Given the description of an element on the screen output the (x, y) to click on. 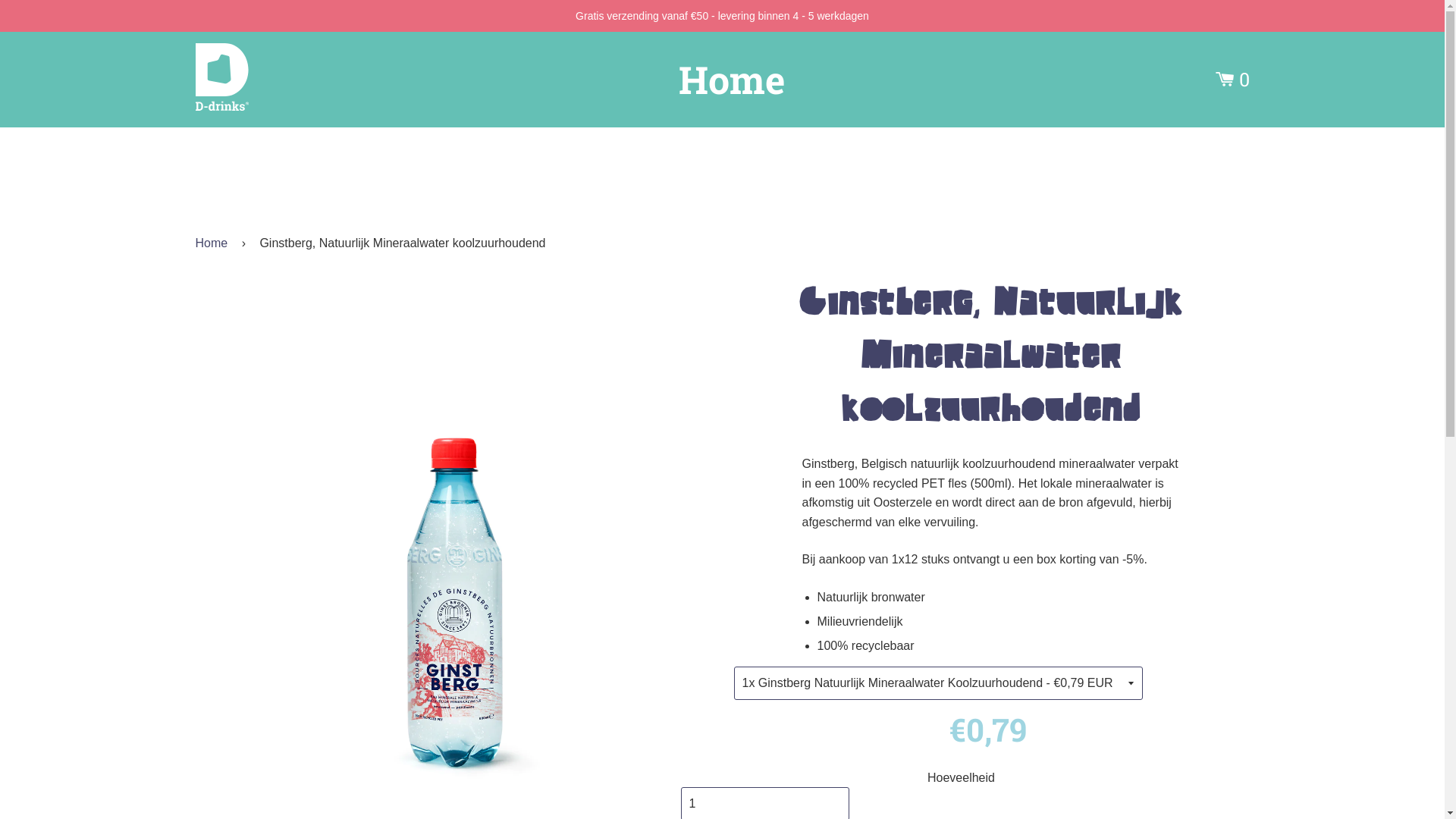
Home Element type: text (214, 243)
Home Element type: text (731, 79)
0 Element type: text (1231, 79)
